Given the description of an element on the screen output the (x, y) to click on. 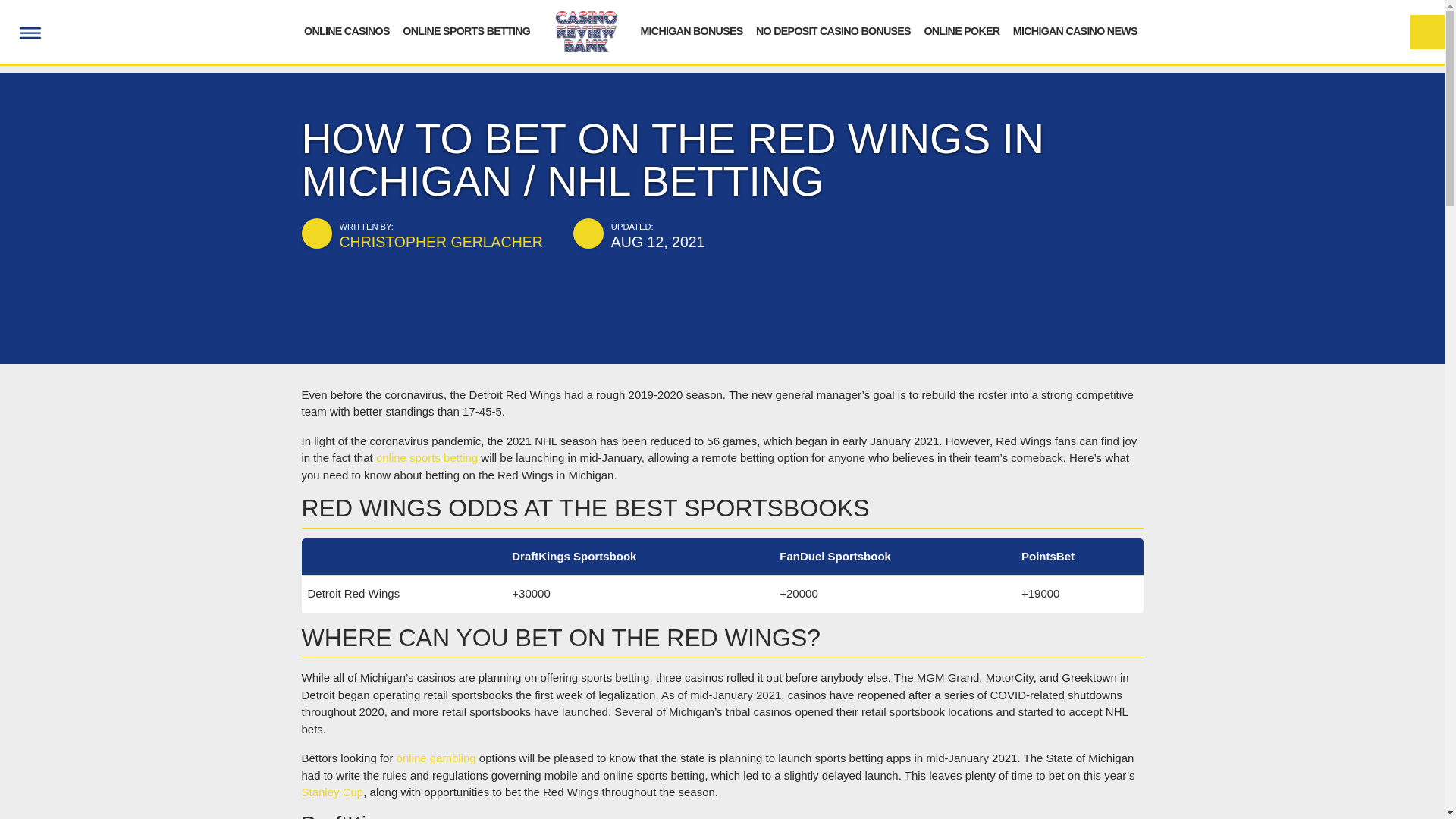
online sports betting (426, 457)
Stanley Cup (332, 791)
NO DEPOSIT CASINO BONUSES (833, 30)
ONLINE CASINOS (347, 30)
ONLINE POKER (960, 30)
CHRISTOPHER GERLACHER (441, 241)
MICHIGAN CASINO NEWS (1075, 30)
ONLINE SPORTS BETTING (466, 30)
MICHIGAN BONUSES (691, 30)
online gambling (436, 757)
